Given the description of an element on the screen output the (x, y) to click on. 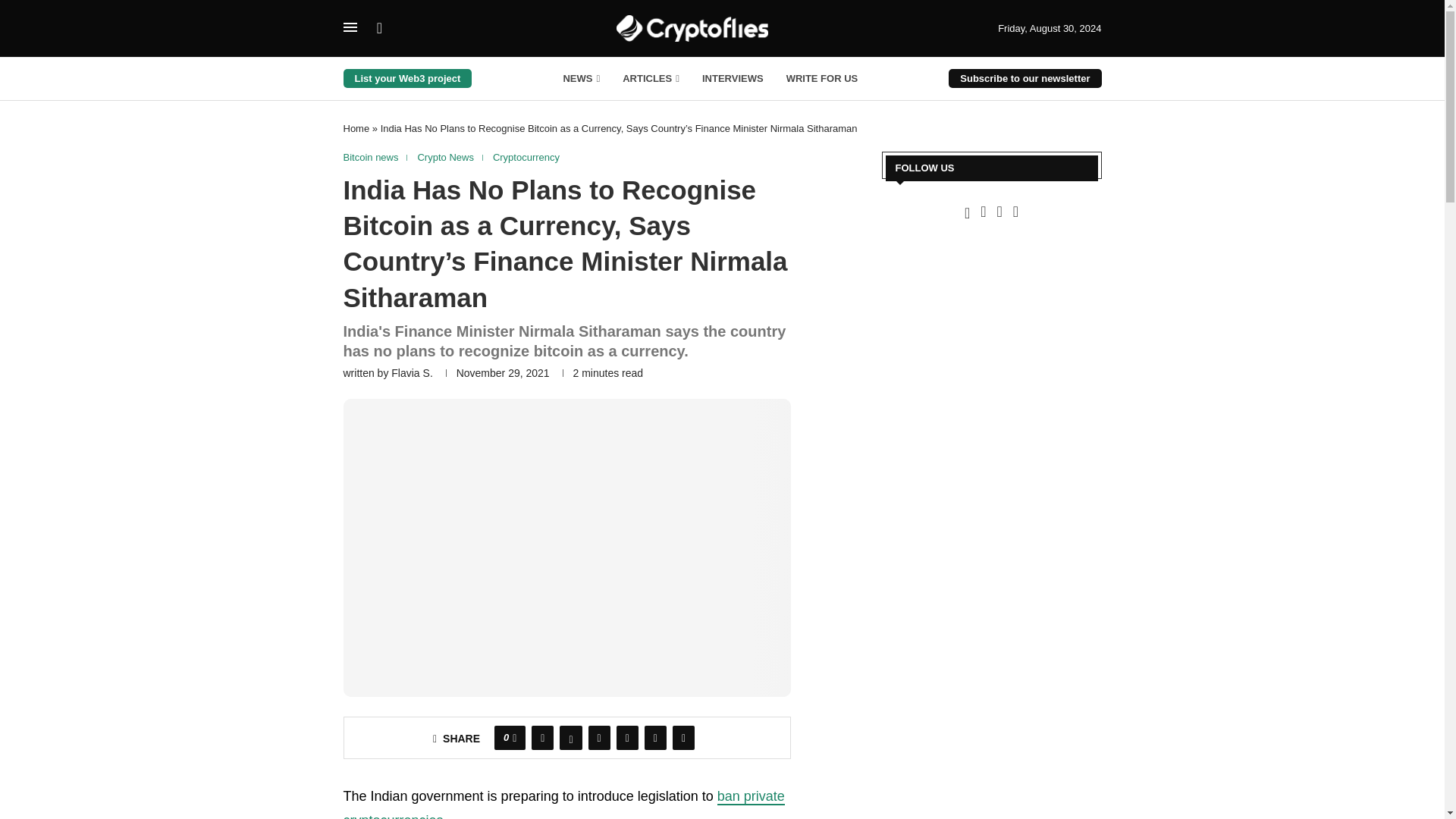
Subscribe to our newsletter (1024, 77)
NEWS (580, 78)
india-crypto-bitcoin (566, 547)
WRITE FOR US (822, 78)
INTERVIEWS (731, 78)
ARTICLES (651, 78)
List your Web3 project (406, 77)
